Given the description of an element on the screen output the (x, y) to click on. 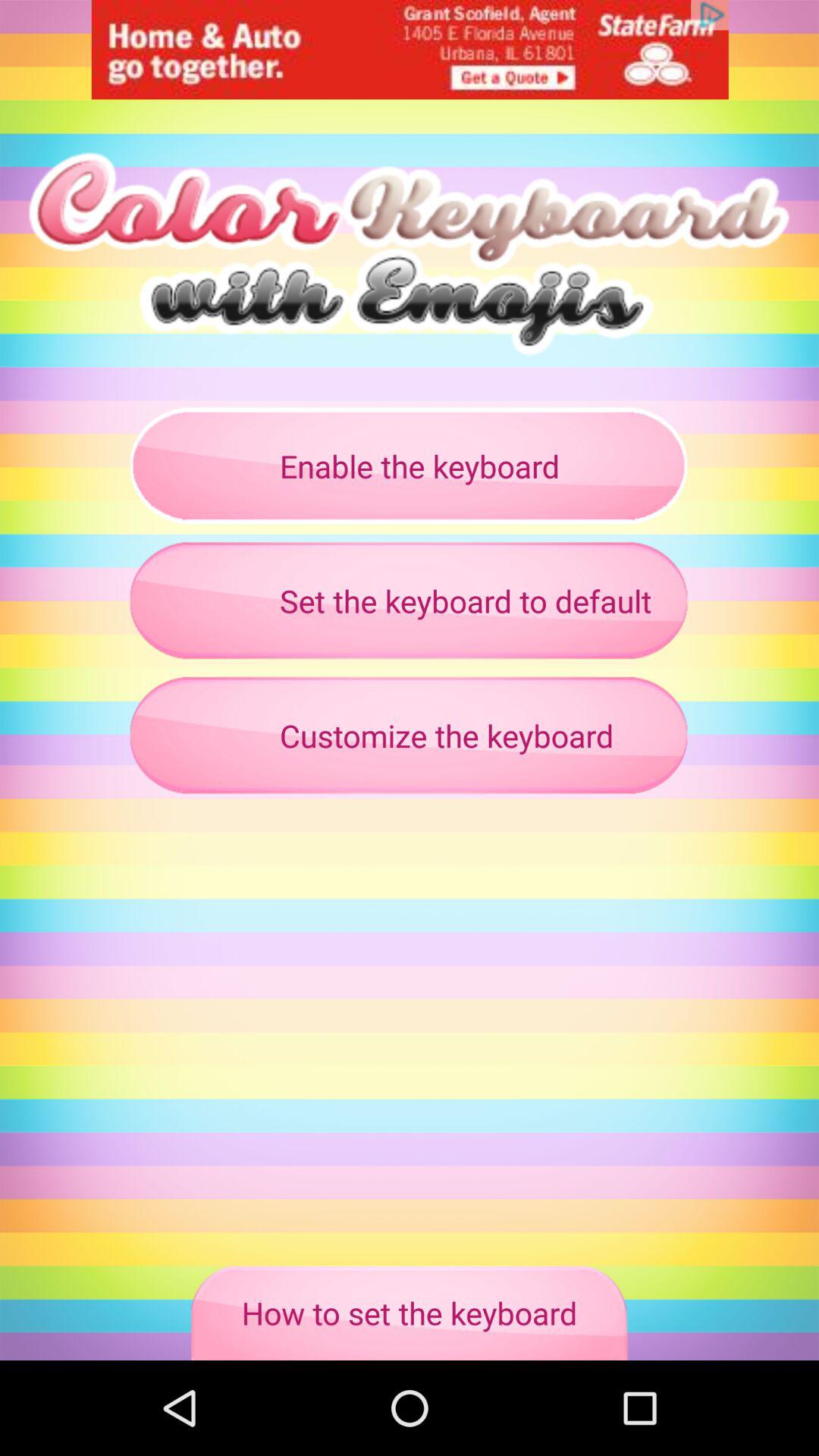
add banner (409, 49)
